Given the description of an element on the screen output the (x, y) to click on. 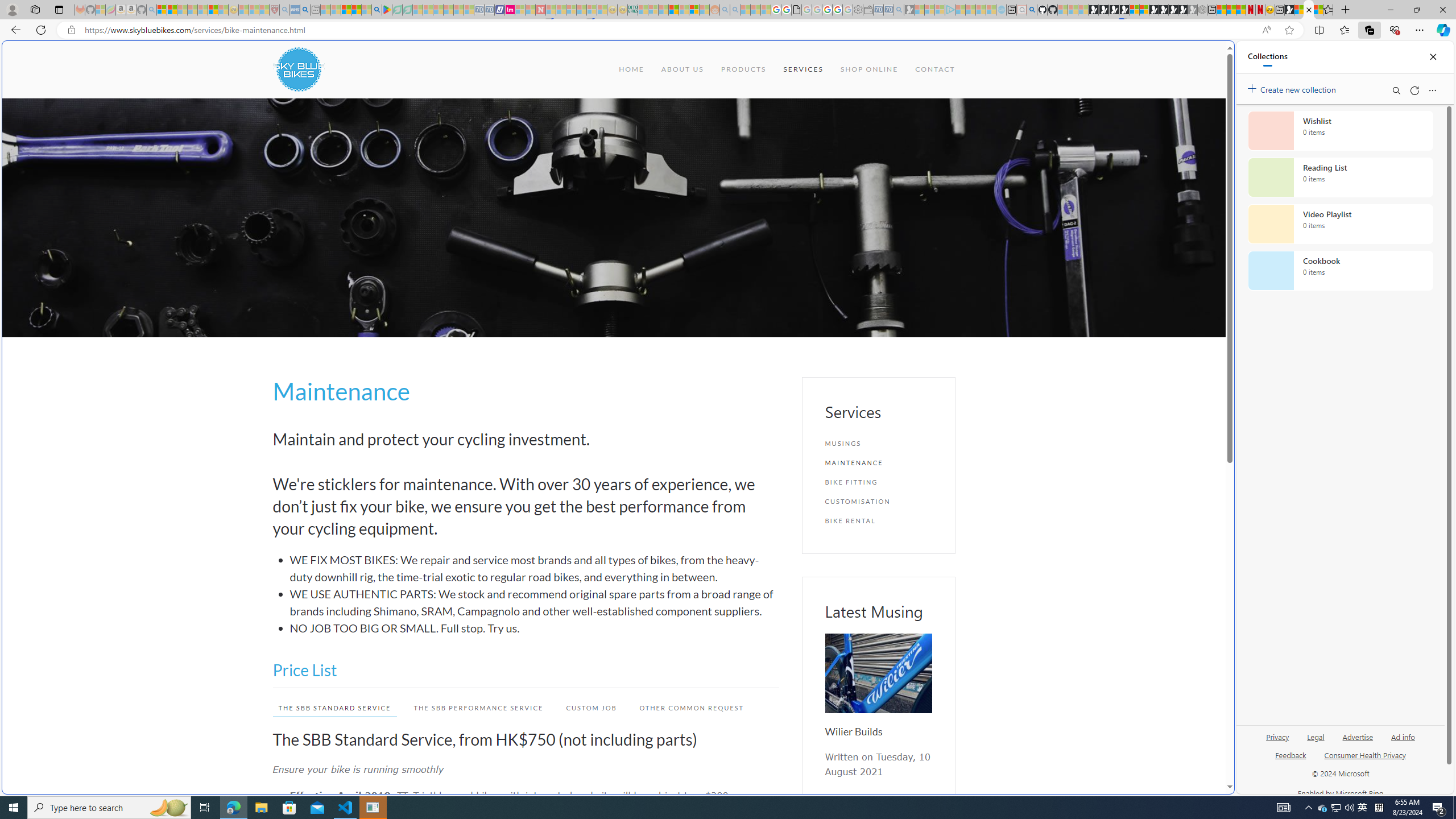
SHOP ONLINE (869, 68)
Class: wk-position-cover (877, 673)
HOME (631, 68)
ABOUT US (681, 68)
